Given the description of an element on the screen output the (x, y) to click on. 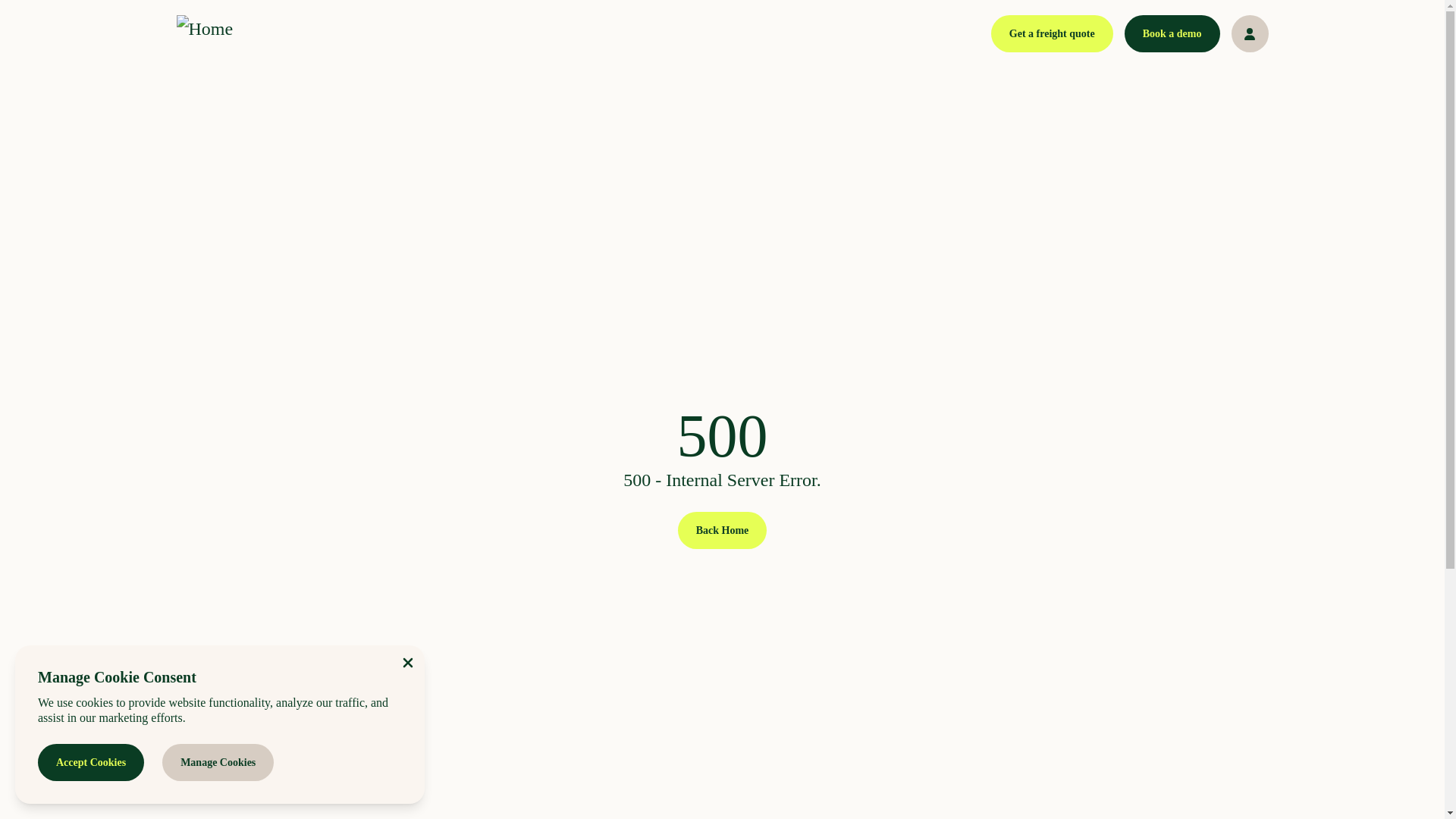
Back Home (722, 529)
Book a demo (1172, 33)
Accept Cookies (90, 762)
Get a freight quote (1052, 33)
Manage Cookies (217, 762)
